Given the description of an element on the screen output the (x, y) to click on. 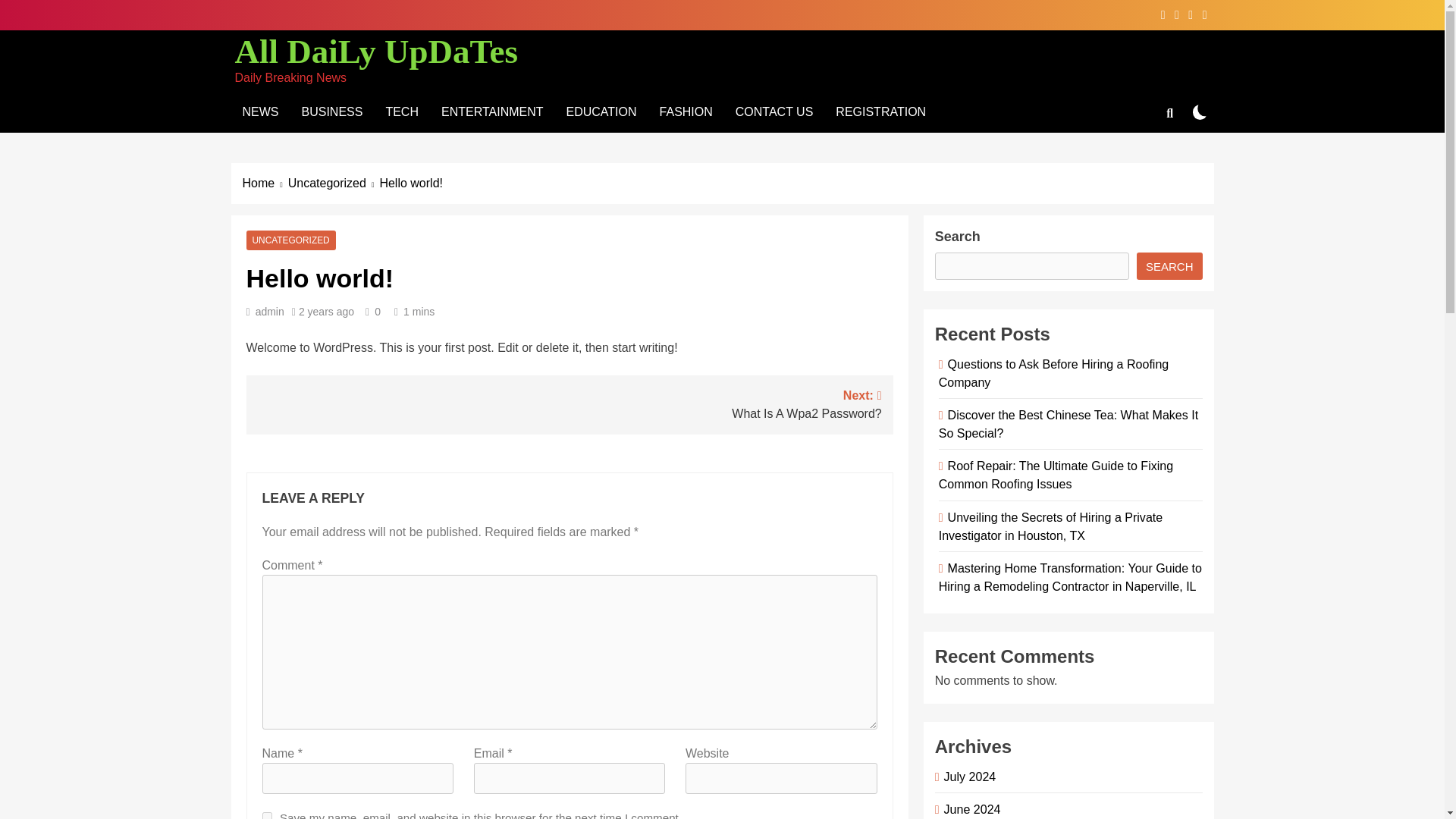
CONTACT US (774, 111)
Discover the Best Chinese Tea: What Makes It So Special? (1068, 423)
Home (569, 403)
2 years ago (265, 183)
Uncategorized (325, 311)
SEARCH (334, 183)
BUSINESS (1169, 266)
admin (331, 111)
EDUCATION (269, 311)
UNCATEGORIZED (600, 111)
All DaiLy UpDaTes (290, 240)
REGISTRATION (376, 51)
